Given the description of an element on the screen output the (x, y) to click on. 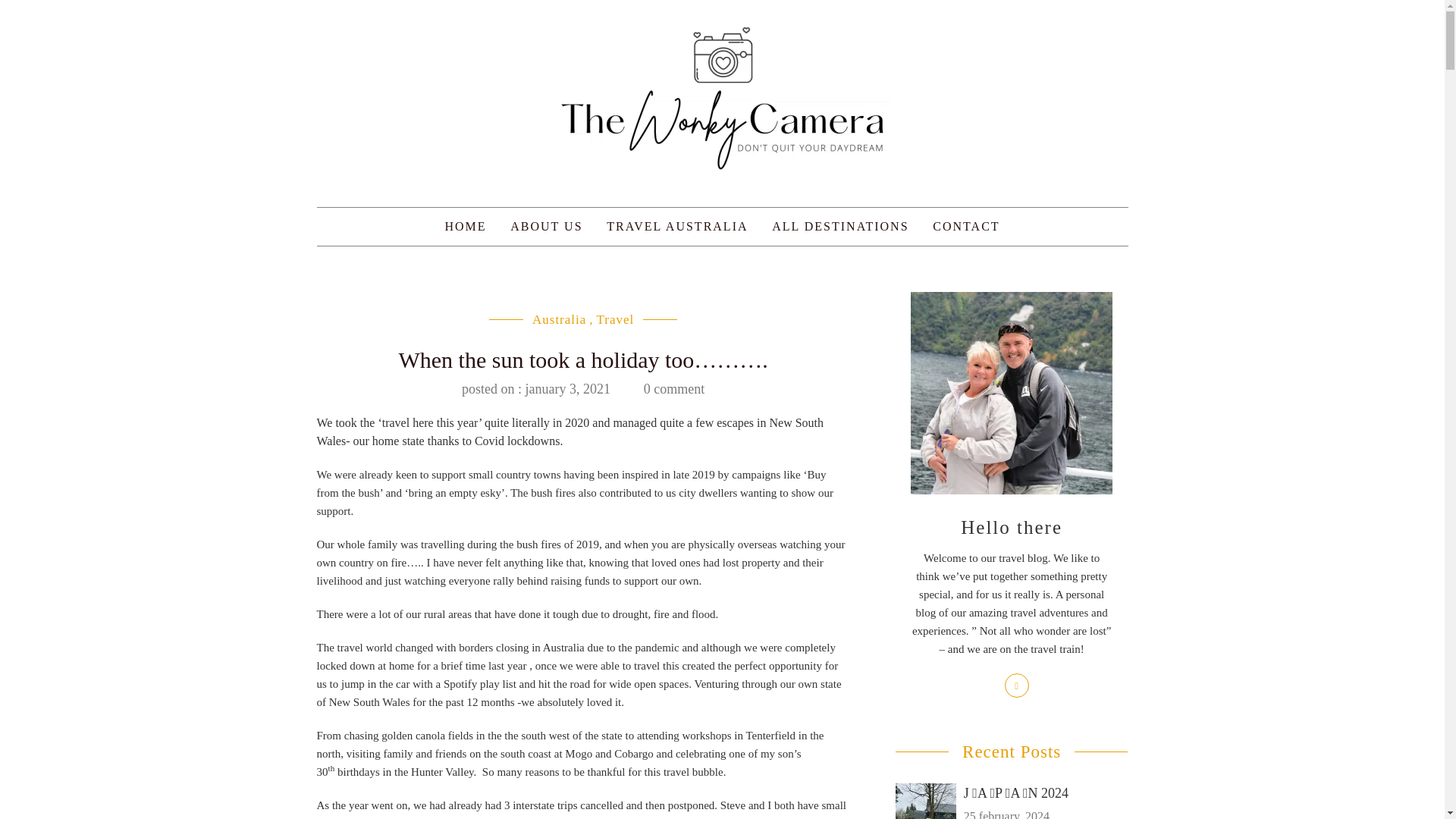
HOME (464, 226)
posted on : january 3, 2021 (535, 388)
ABOUT US (546, 226)
Travel (615, 319)
Australia (559, 319)
ALL DESTINATIONS (839, 226)
CONTACT (966, 226)
TRAVEL AUSTRALIA (676, 226)
0 comment (673, 388)
